Given the description of an element on the screen output the (x, y) to click on. 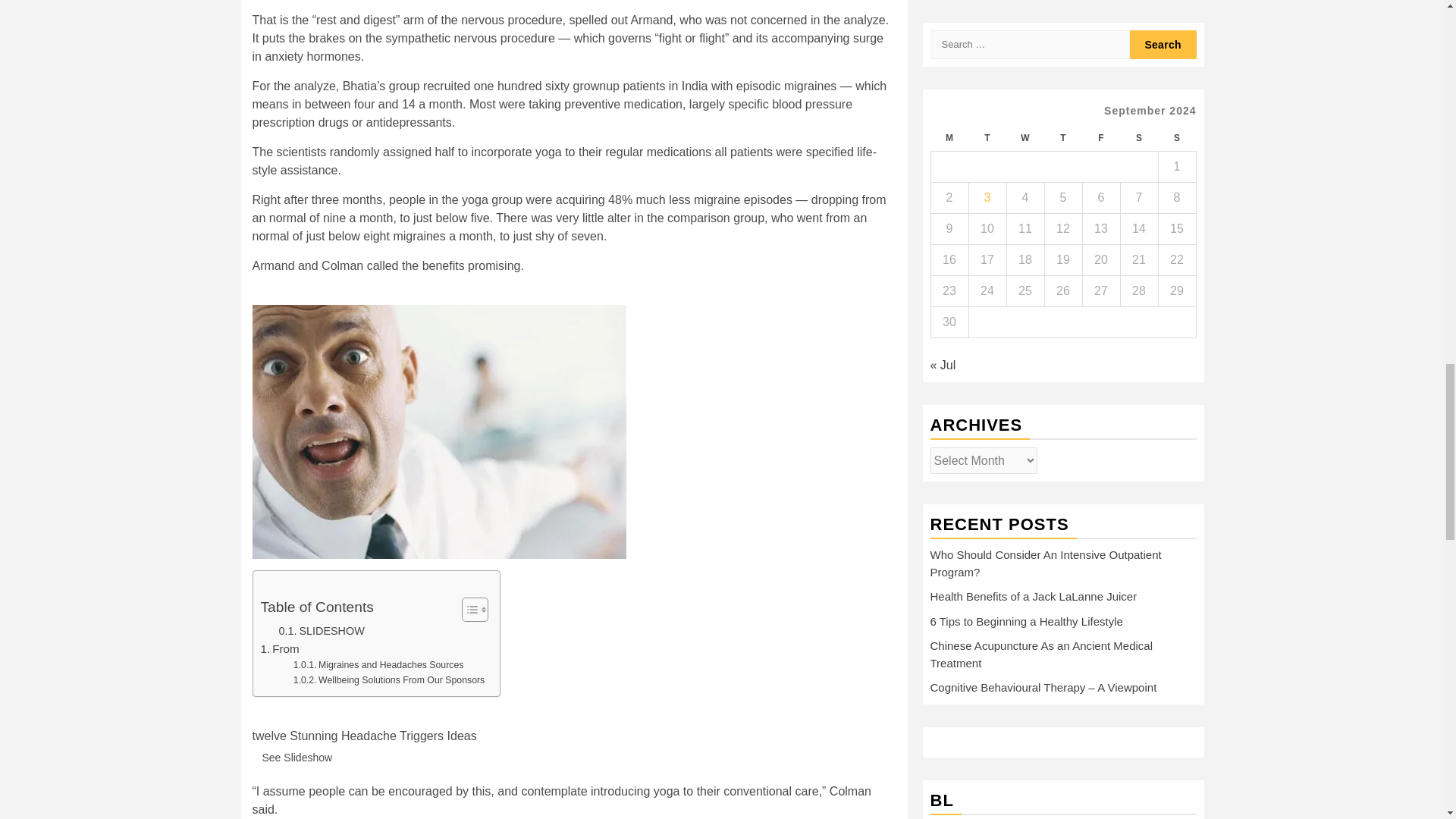
SLIDESHOW (322, 630)
Wellbeing Solutions From Our Sponsors (389, 680)
Migraines and Headaches Sources (379, 665)
Wellbeing Solutions From Our Sponsors (389, 680)
SLIDESHOW (322, 630)
Migraines and Headaches Sources (379, 665)
From (279, 648)
From (279, 648)
Table of Contents (317, 607)
